Given the description of an element on the screen output the (x, y) to click on. 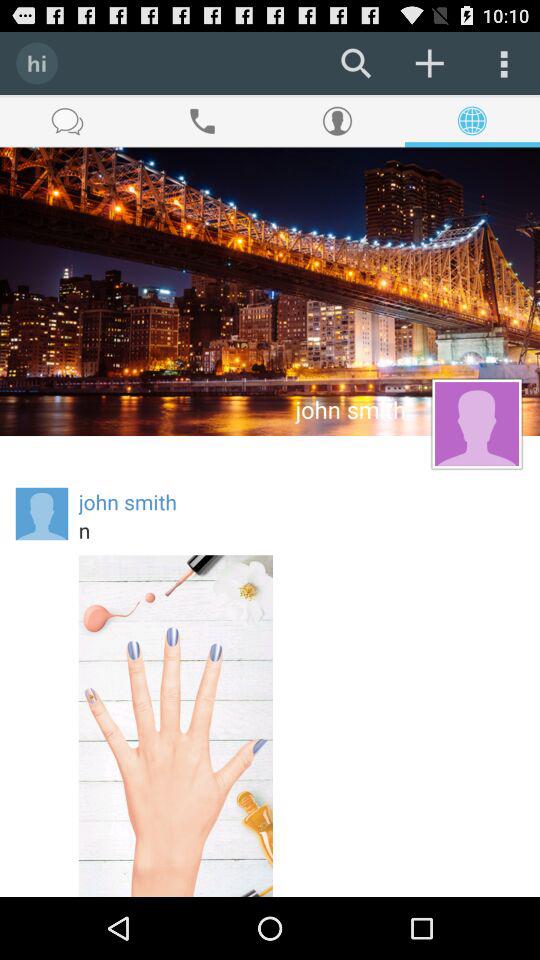
turn off the icon next to the john smith item (41, 513)
